Given the description of an element on the screen output the (x, y) to click on. 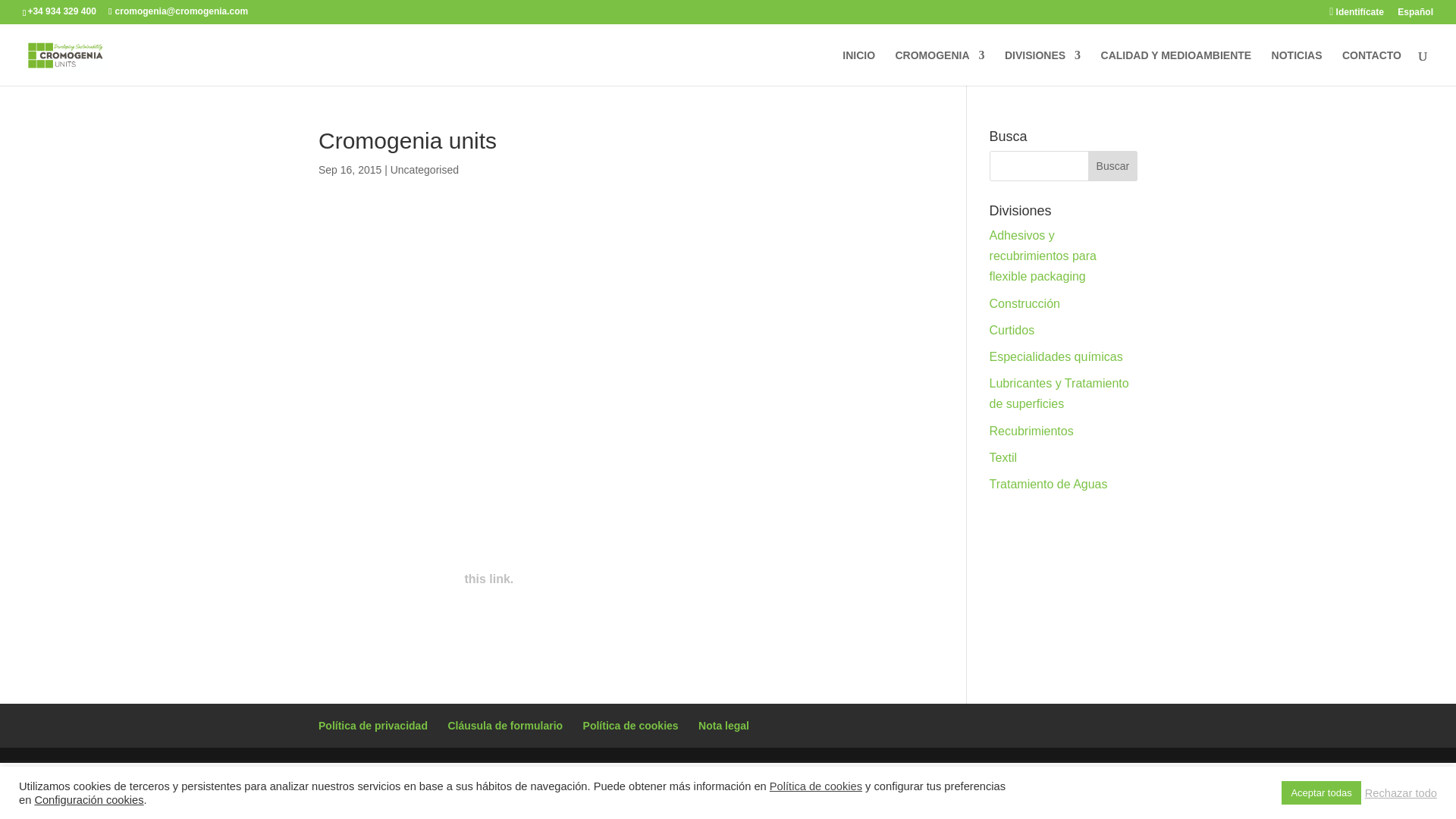
INICIO (859, 67)
Buscar (1112, 165)
CALIDAD Y MEDIOAMBIENTE (1176, 67)
DIVISIONES (1042, 67)
NOTICIAS (1296, 67)
CONTACTO (1371, 67)
CROMOGENIA (939, 67)
